Given the description of an element on the screen output the (x, y) to click on. 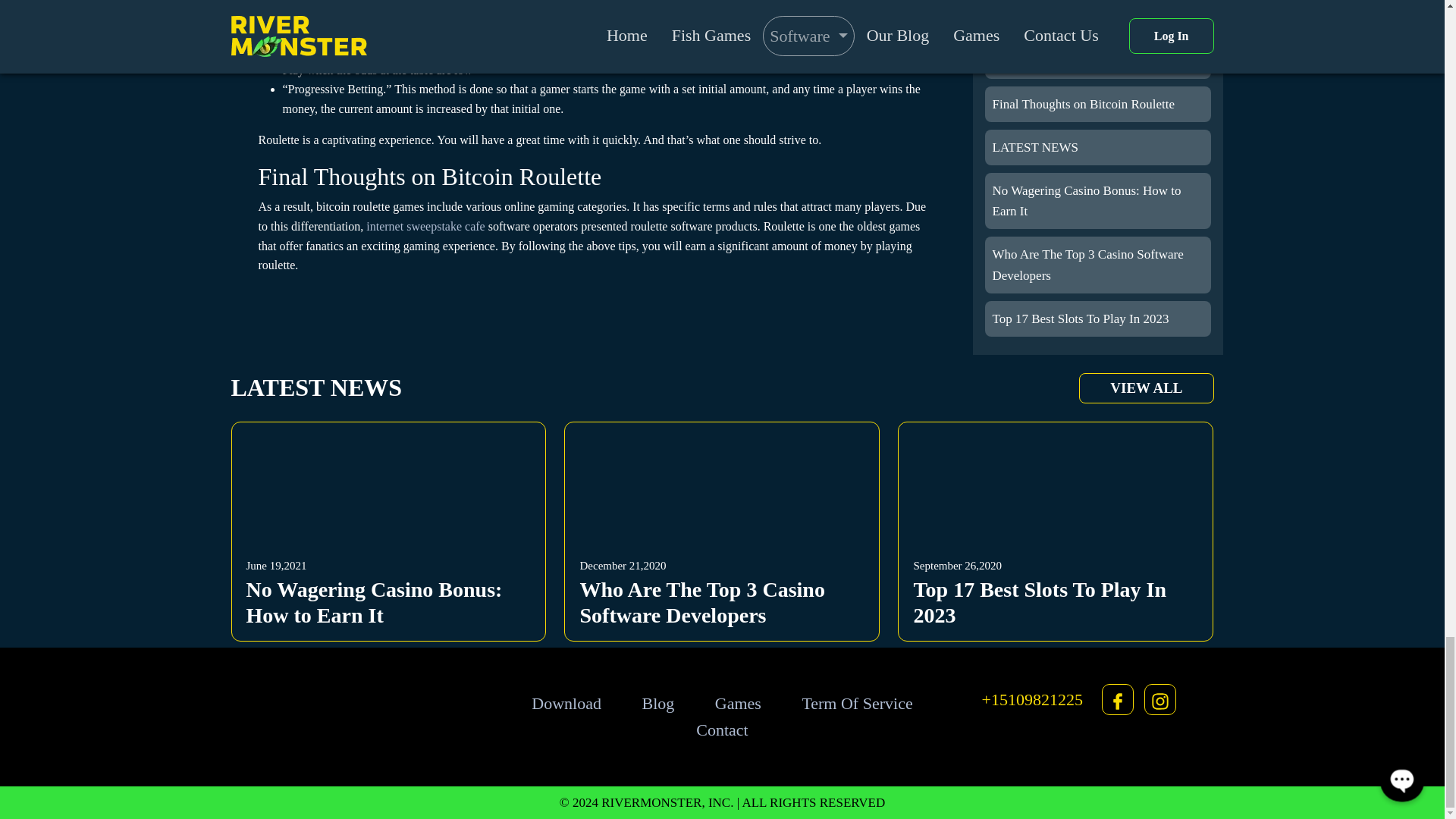
bitcoin  (515, 30)
VIEW ALL (1145, 388)
internet sweepstake cafe (388, 529)
